Given the description of an element on the screen output the (x, y) to click on. 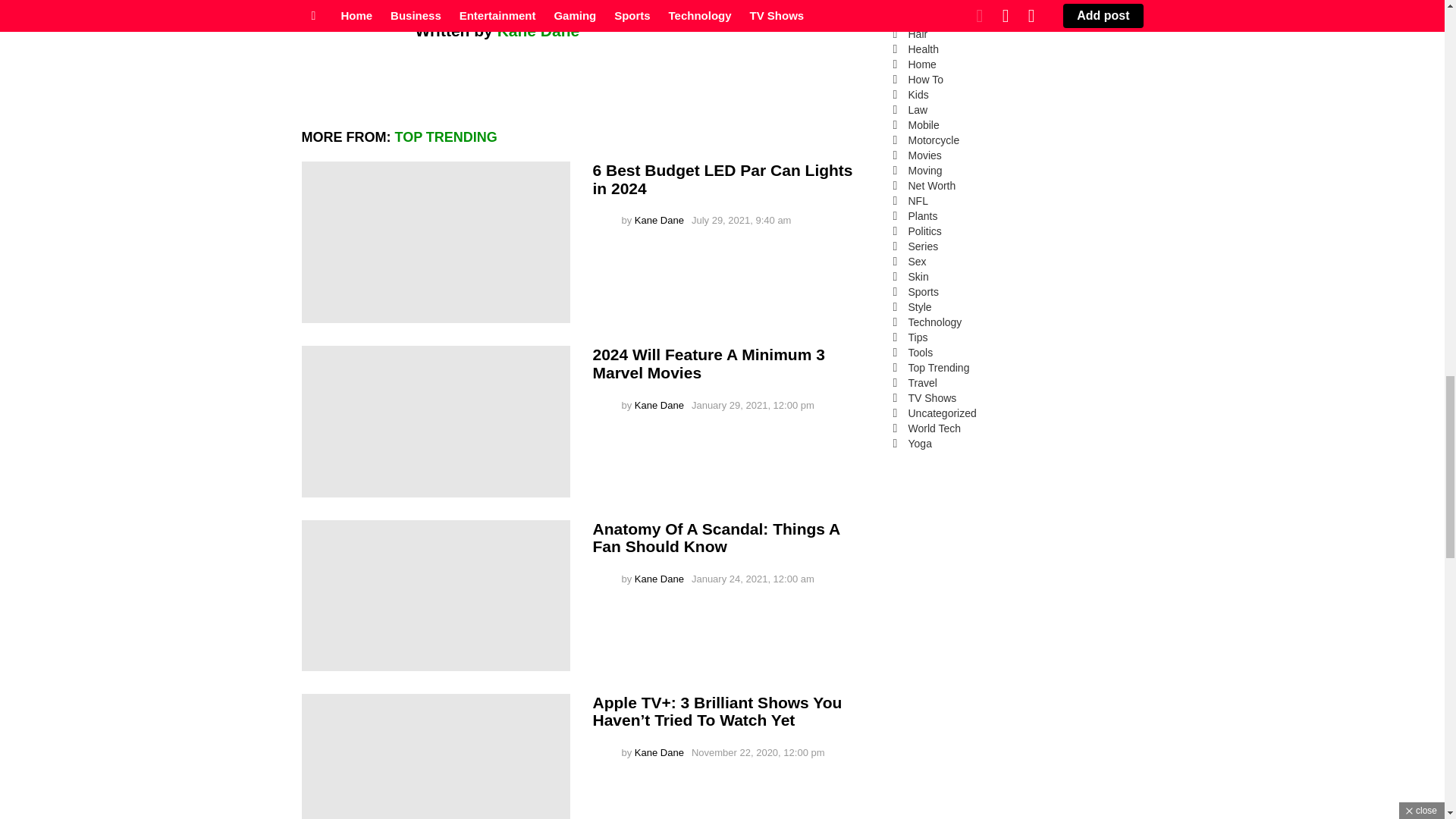
Kane Dane (538, 30)
Posts by Kane Dane (659, 405)
TOP TRENDING (445, 136)
6 Best Budget LED Par Can Lights in 2024 (722, 179)
Posts by Kane Dane (659, 578)
6 Best Budget LED Par Can Lights in 2024 (435, 241)
2024 Will Feature A Minimum 3 Marvel Movies (435, 420)
Posts by Kane Dane (659, 220)
Anatomy Of A Scandal: Things A Fan Should Know (435, 595)
Posts by Kane Dane (659, 752)
